Given the description of an element on the screen output the (x, y) to click on. 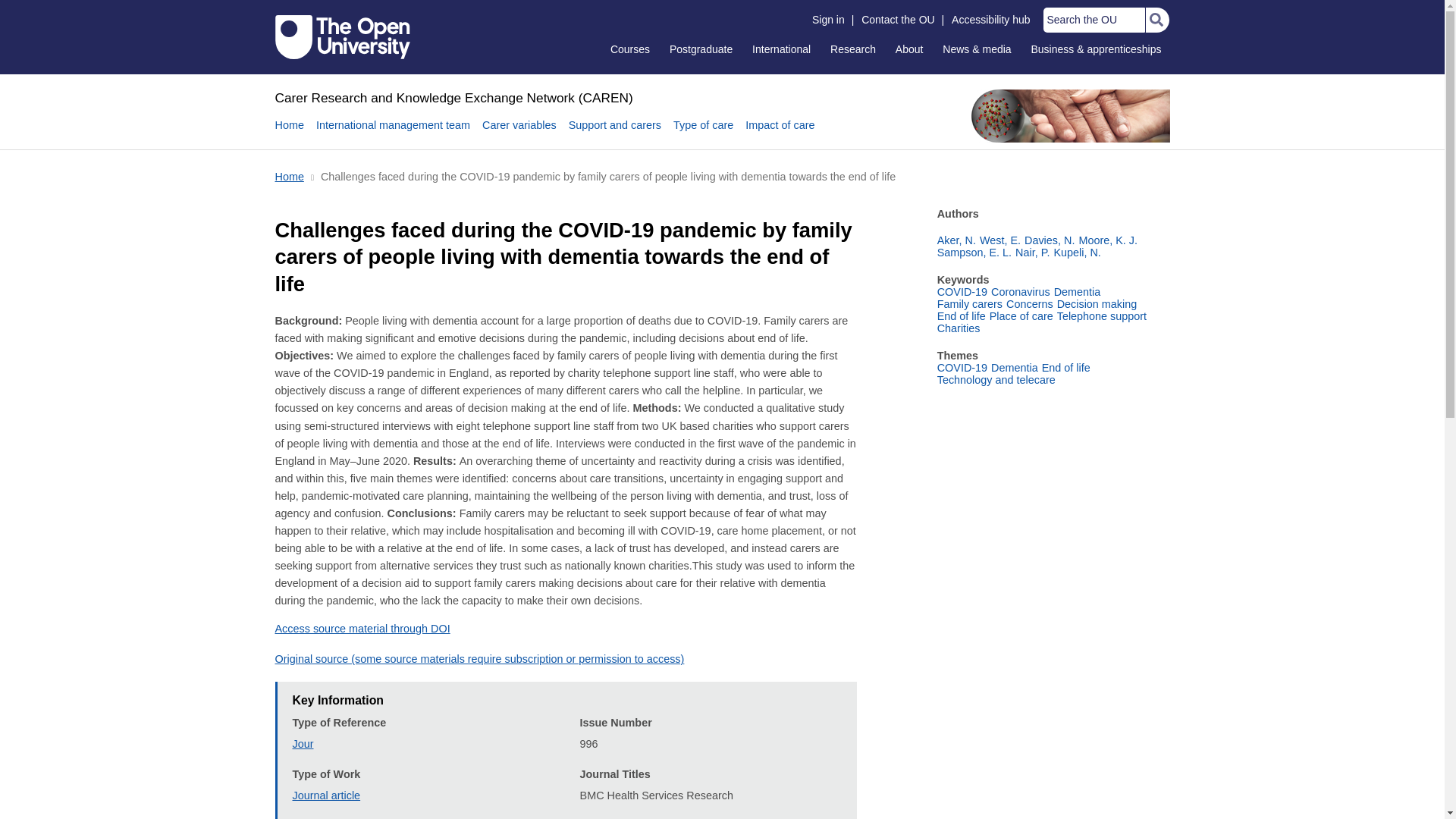
About (908, 49)
Postgraduate (701, 49)
Search (1156, 19)
Home (288, 133)
Impact of care (779, 133)
Home (453, 97)
Support and carers (615, 133)
Courses (630, 49)
Search (1156, 19)
Support and carers (615, 133)
Carer variables (518, 133)
Access source material through DOI (362, 628)
Impact of care (779, 133)
Type of care (702, 133)
